Given the description of an element on the screen output the (x, y) to click on. 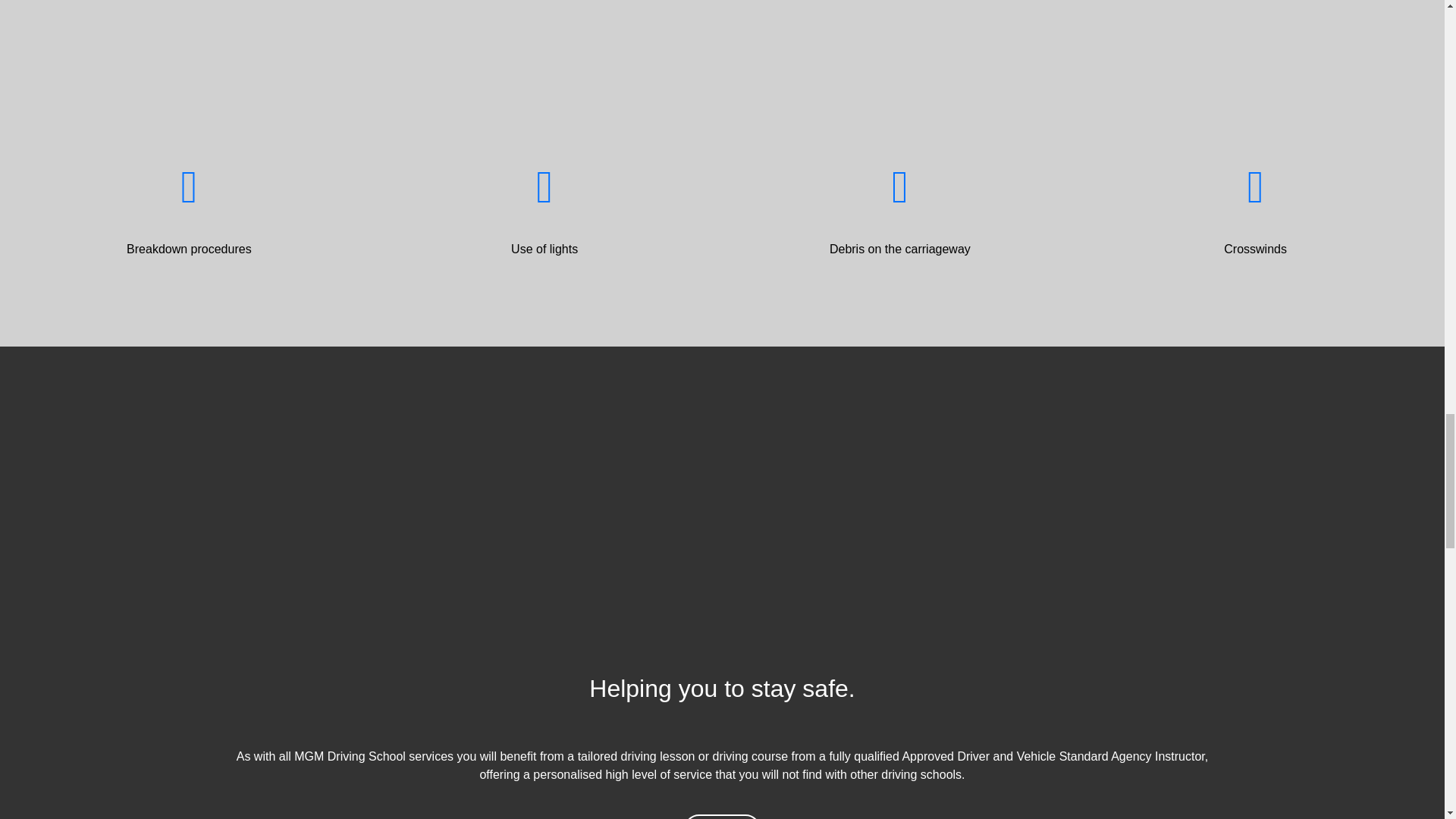
Book Now (722, 777)
Helping you to stay safe. (721, 651)
